Given the description of an element on the screen output the (x, y) to click on. 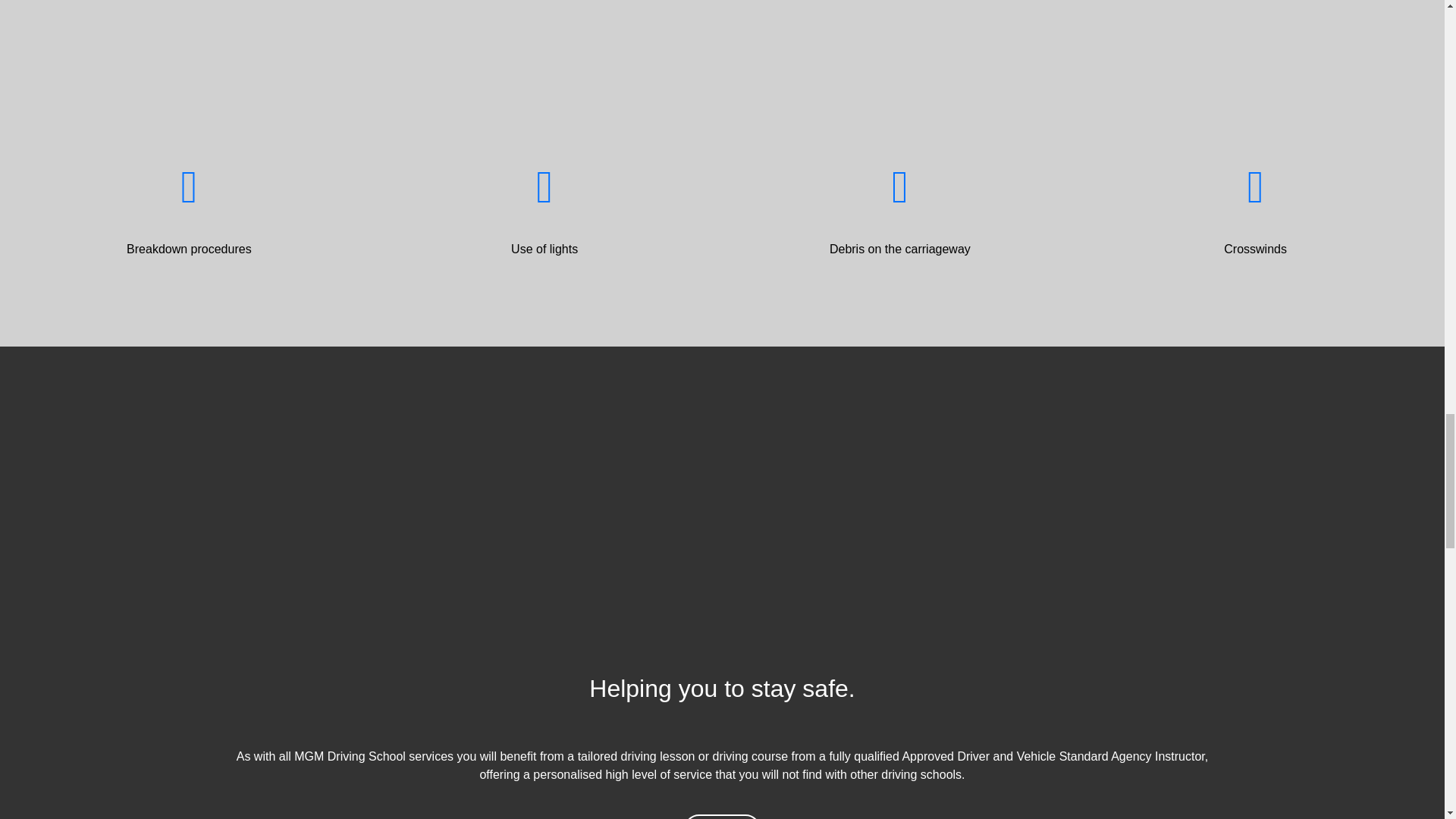
Book Now (722, 777)
Helping you to stay safe. (721, 651)
